Given the description of an element on the screen output the (x, y) to click on. 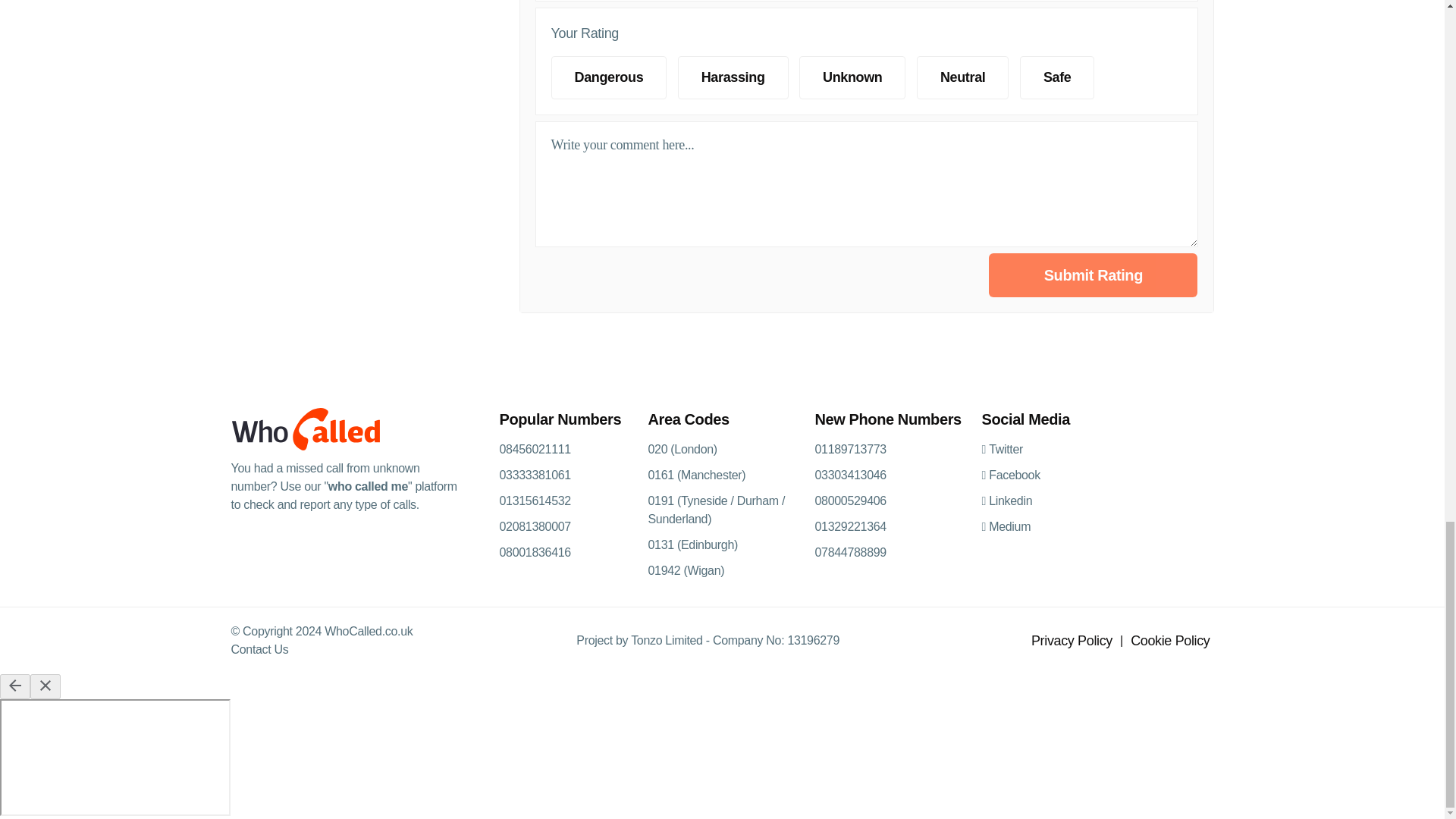
3 (896, 103)
5 (896, 103)
2 (896, 103)
Submit Rating (1092, 275)
4 (896, 103)
1 (896, 61)
